Given the description of an element on the screen output the (x, y) to click on. 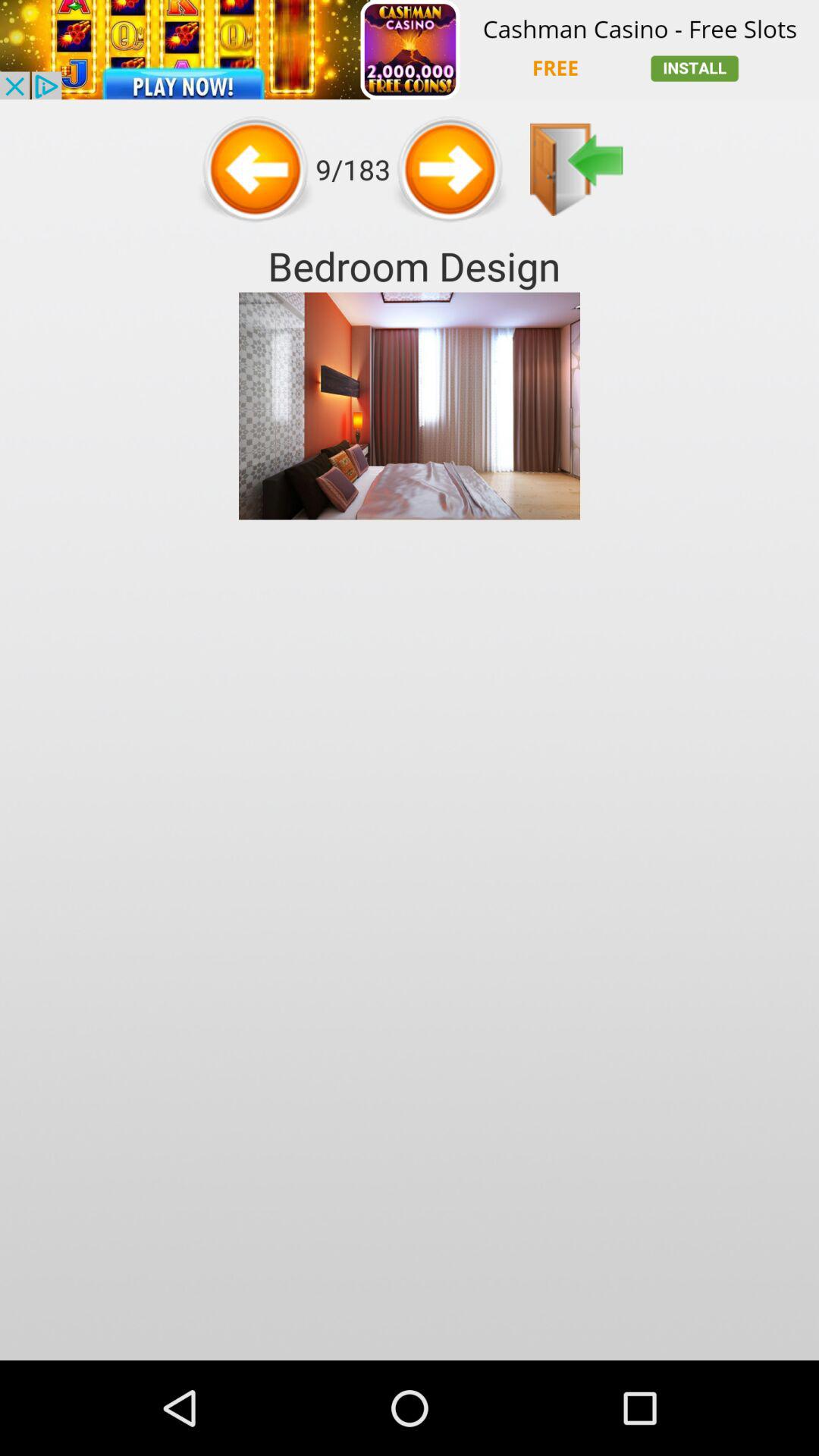
advertisement for cashman casino- free slots (409, 49)
